Given the description of an element on the screen output the (x, y) to click on. 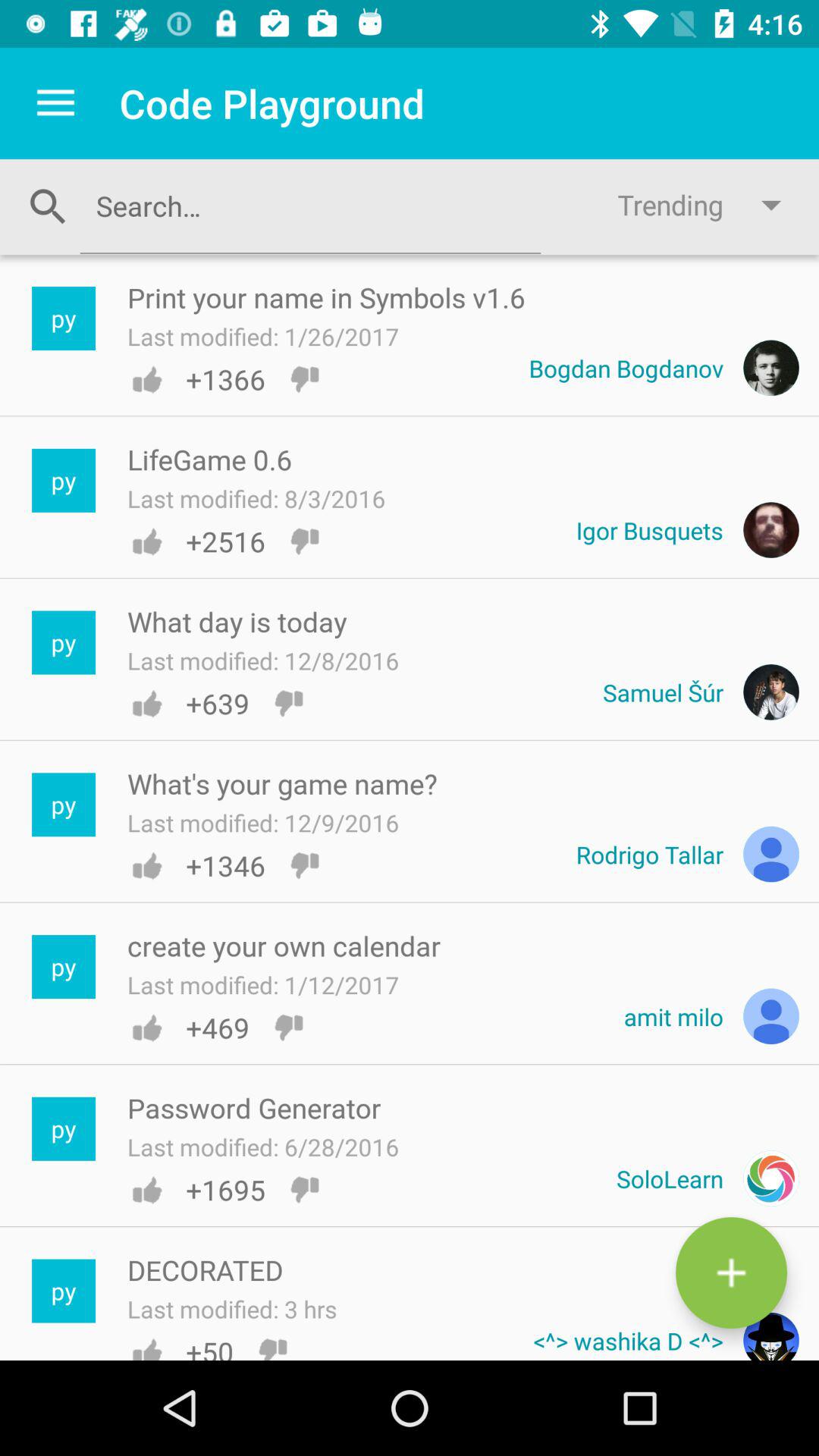
search textbox (310, 205)
